Given the description of an element on the screen output the (x, y) to click on. 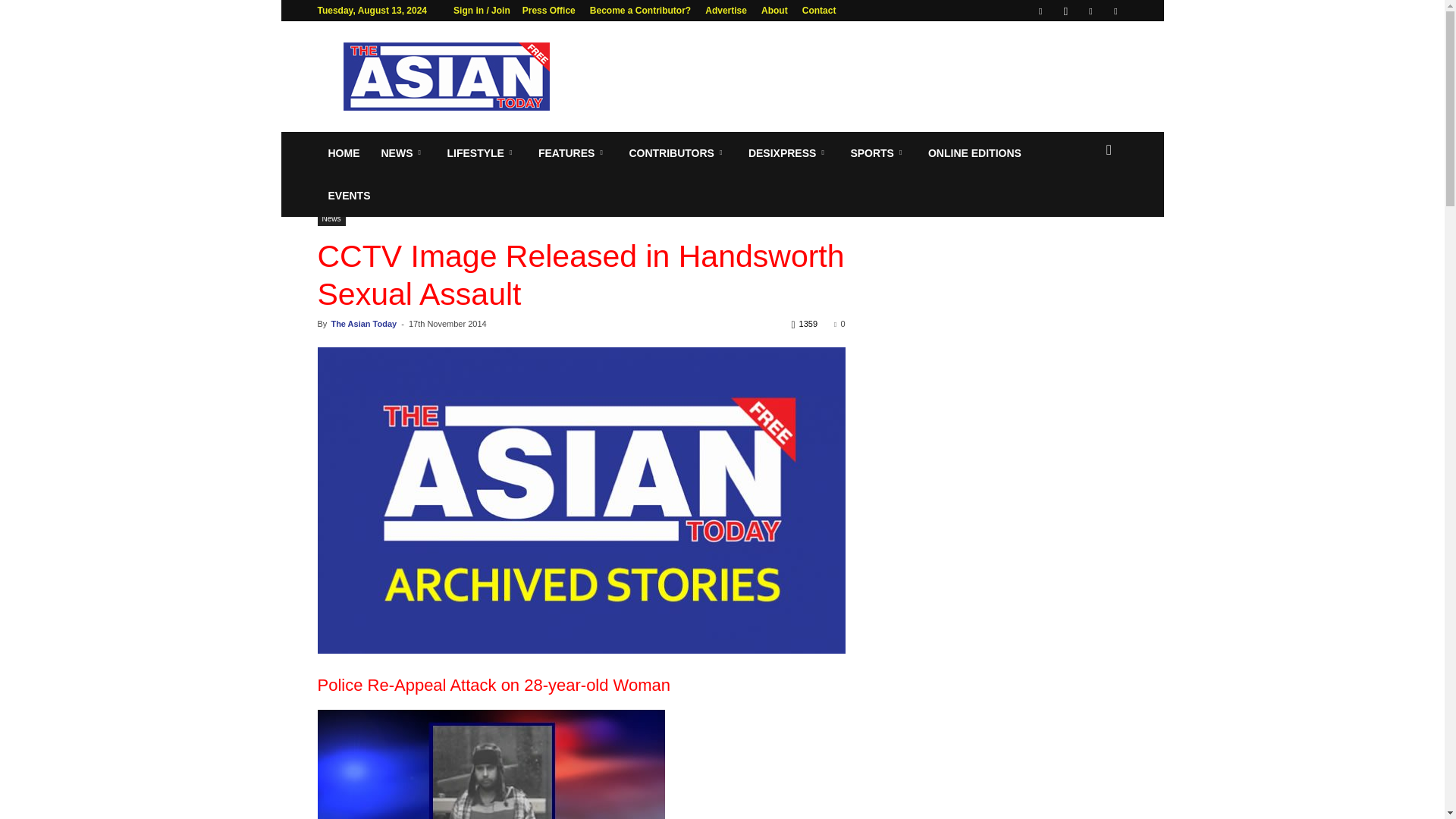
Youtube (1114, 10)
Instagram (1065, 10)
Twitter (1090, 10)
Facebook (1040, 10)
